Given the description of an element on the screen output the (x, y) to click on. 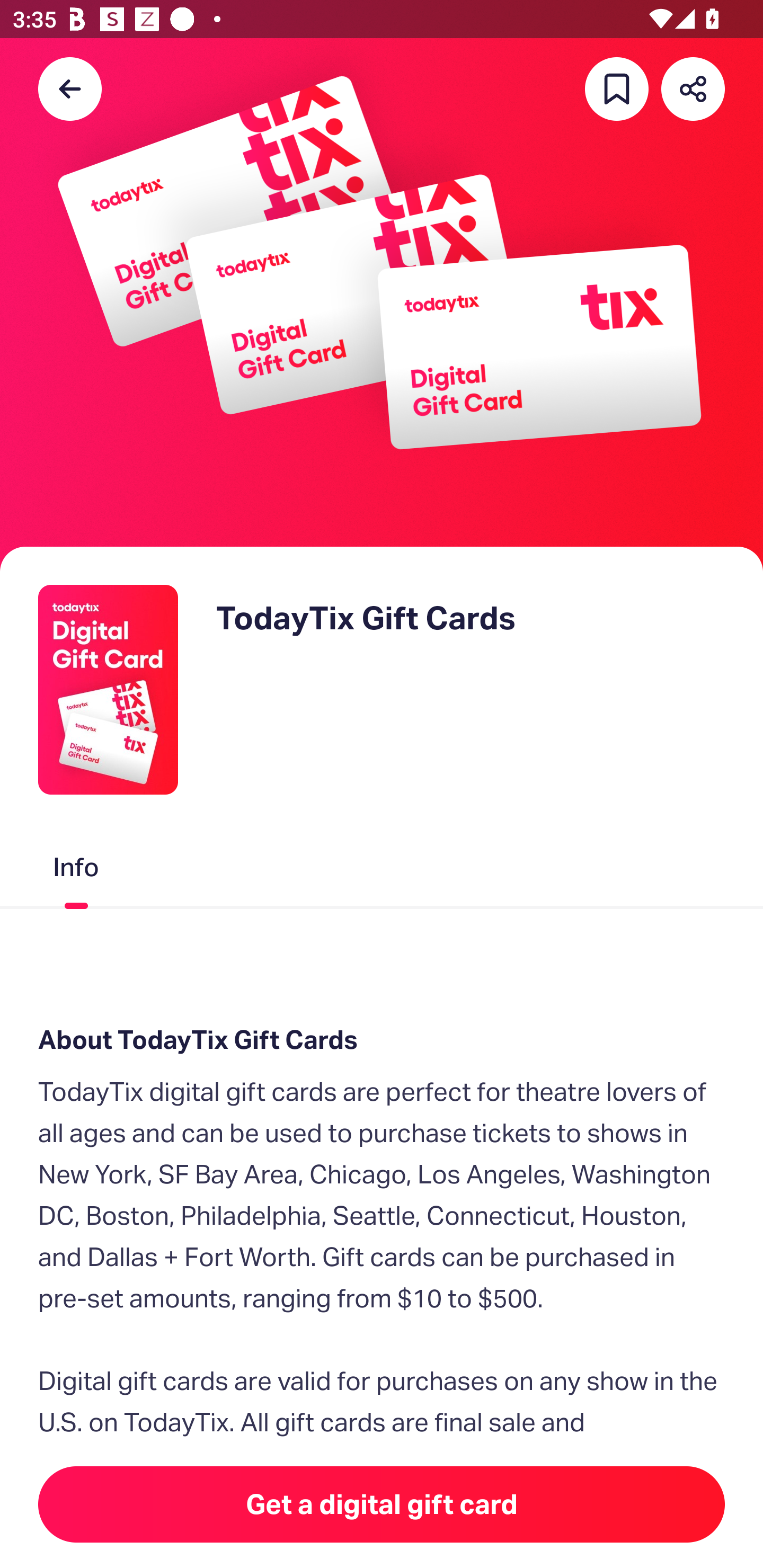
About TodayTix Gift Cards (381, 1039)
Get a digital gift card (381, 1504)
